Given the description of an element on the screen output the (x, y) to click on. 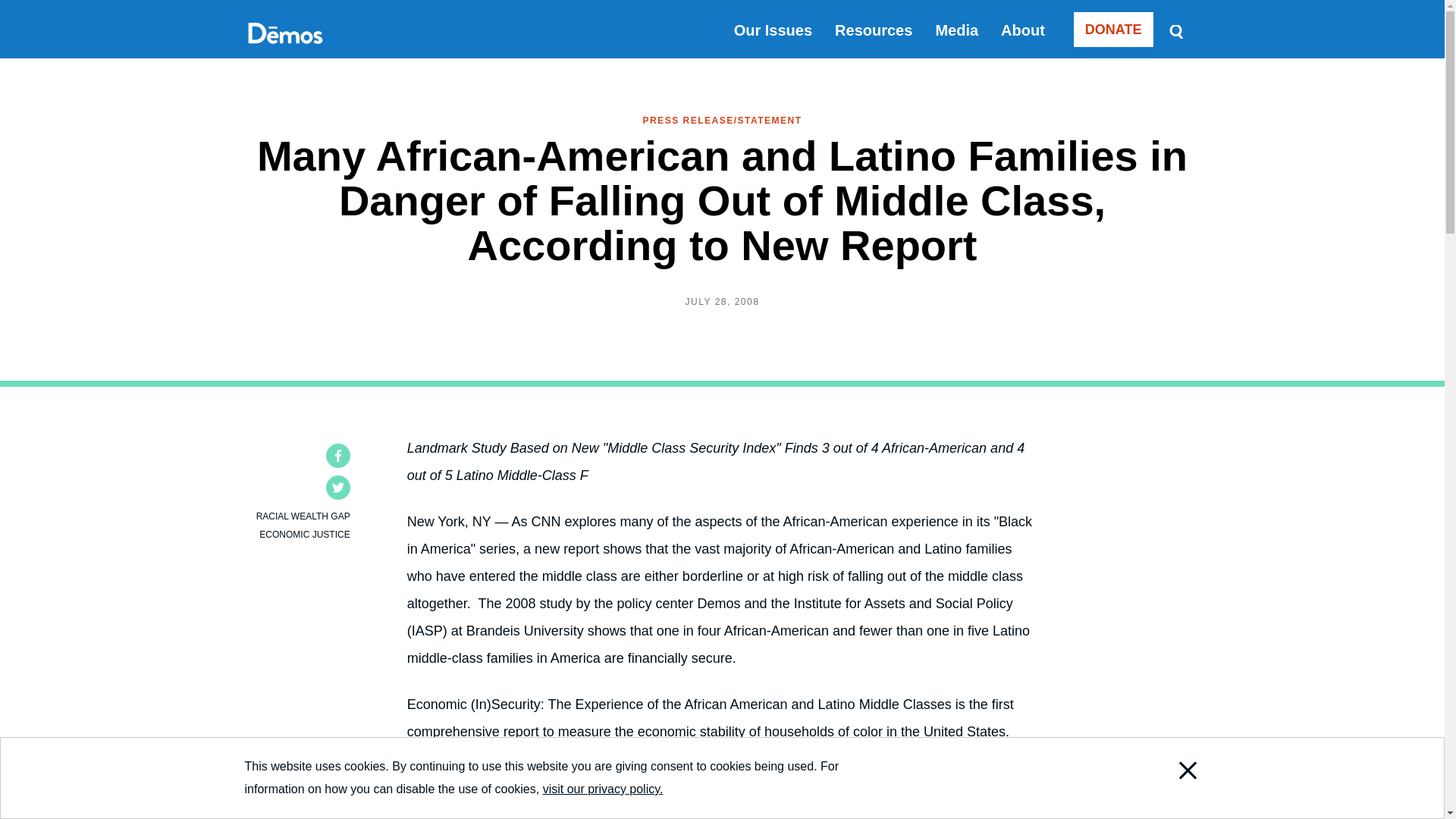
Home (284, 50)
RACIAL WEALTH GAP (303, 516)
Search (1176, 30)
Resources (873, 30)
Search (1176, 30)
About (1023, 30)
Facebook (338, 455)
Our Issues (772, 30)
DONATE (1113, 29)
Twitter (338, 487)
Media (956, 30)
Close Notification (1168, 802)
ECONOMIC JUSTICE (304, 534)
